Given the description of an element on the screen output the (x, y) to click on. 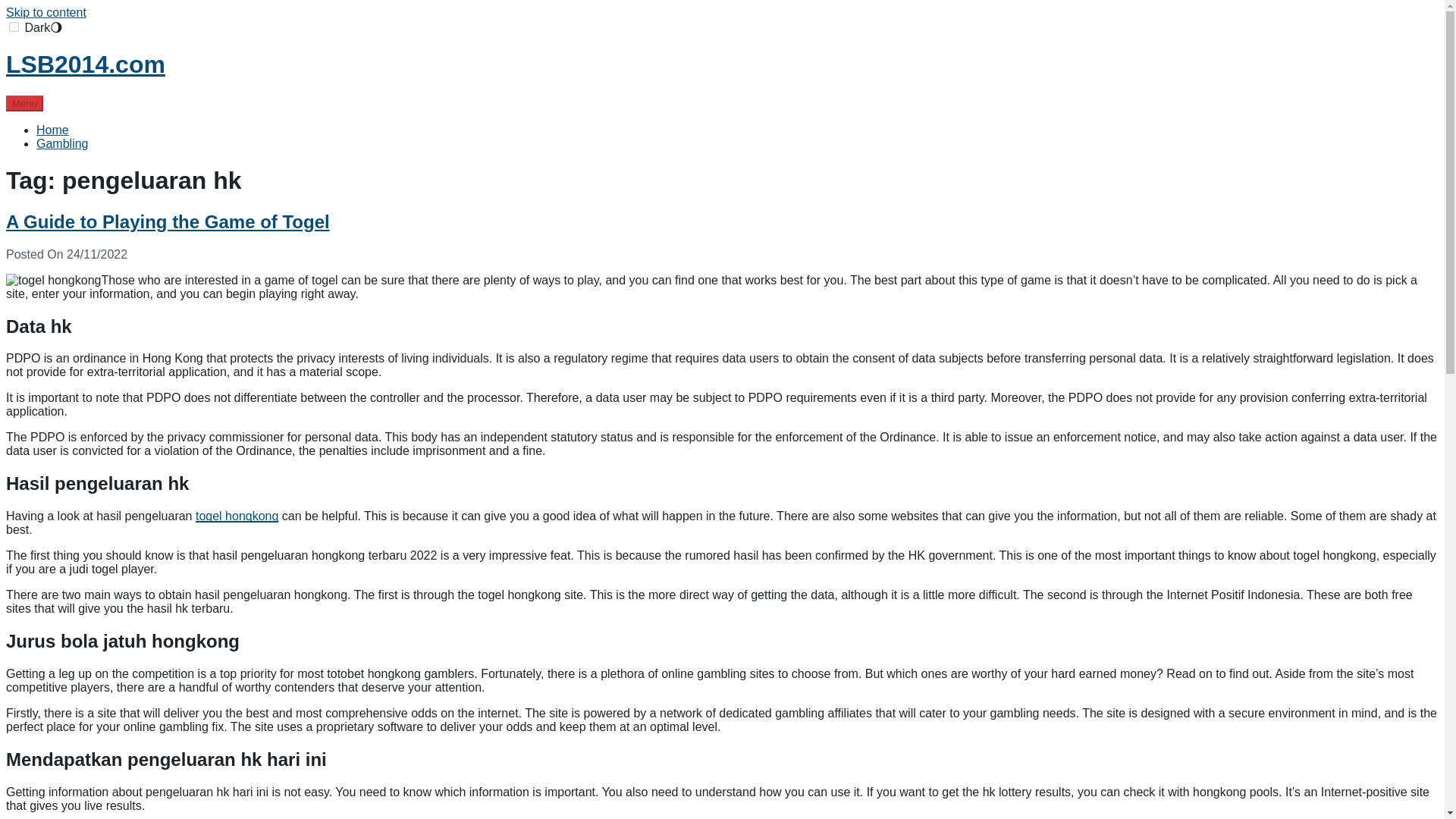
LSB2014.com (85, 63)
Home (52, 129)
on (13, 26)
Menu (24, 103)
Skip to content (45, 11)
Gambling (61, 143)
togel hongkong (236, 515)
A Guide to Playing the Game of Togel (167, 221)
